Given the description of an element on the screen output the (x, y) to click on. 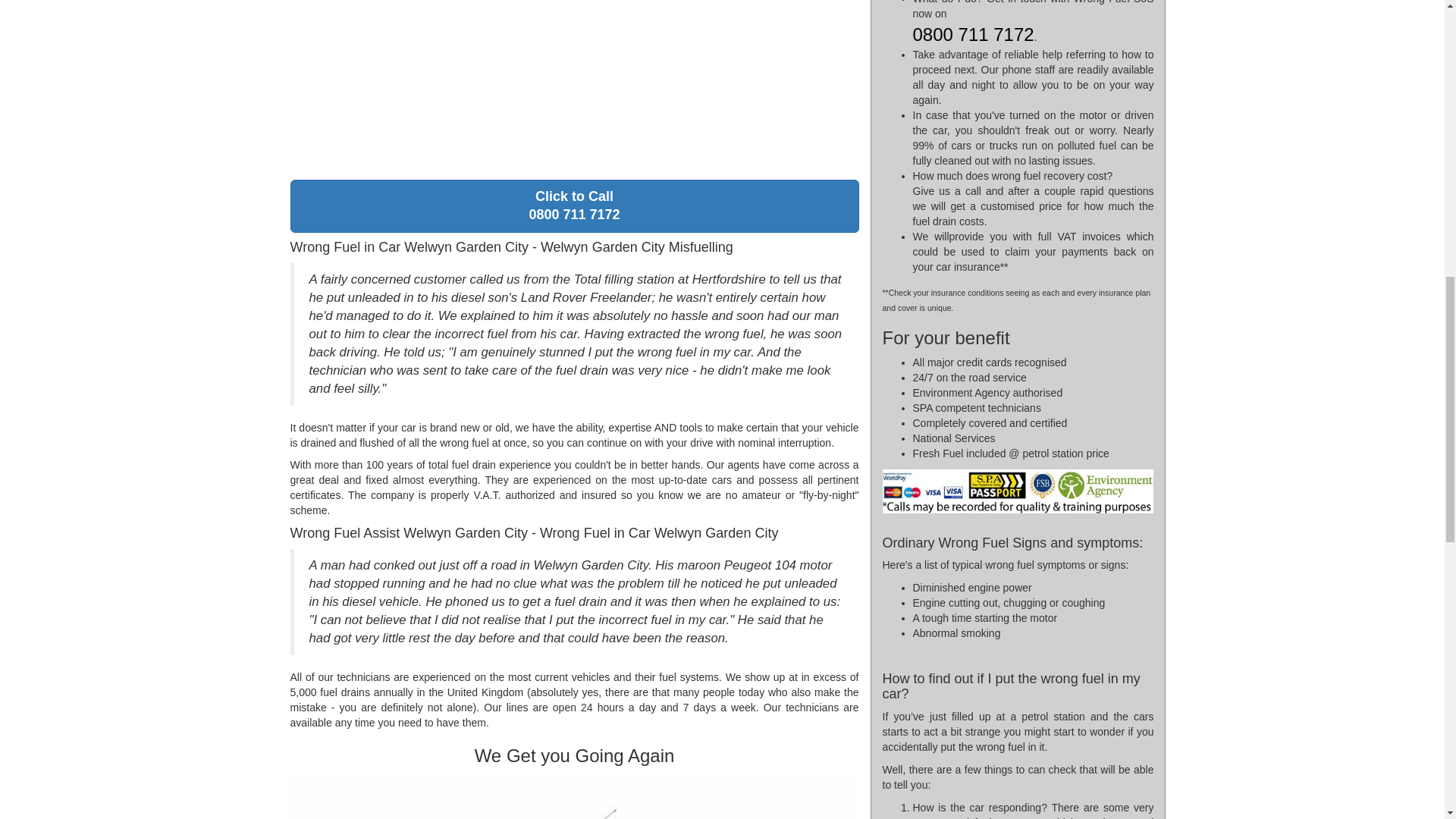
0800 711 7172 (972, 37)
